Given the description of an element on the screen output the (x, y) to click on. 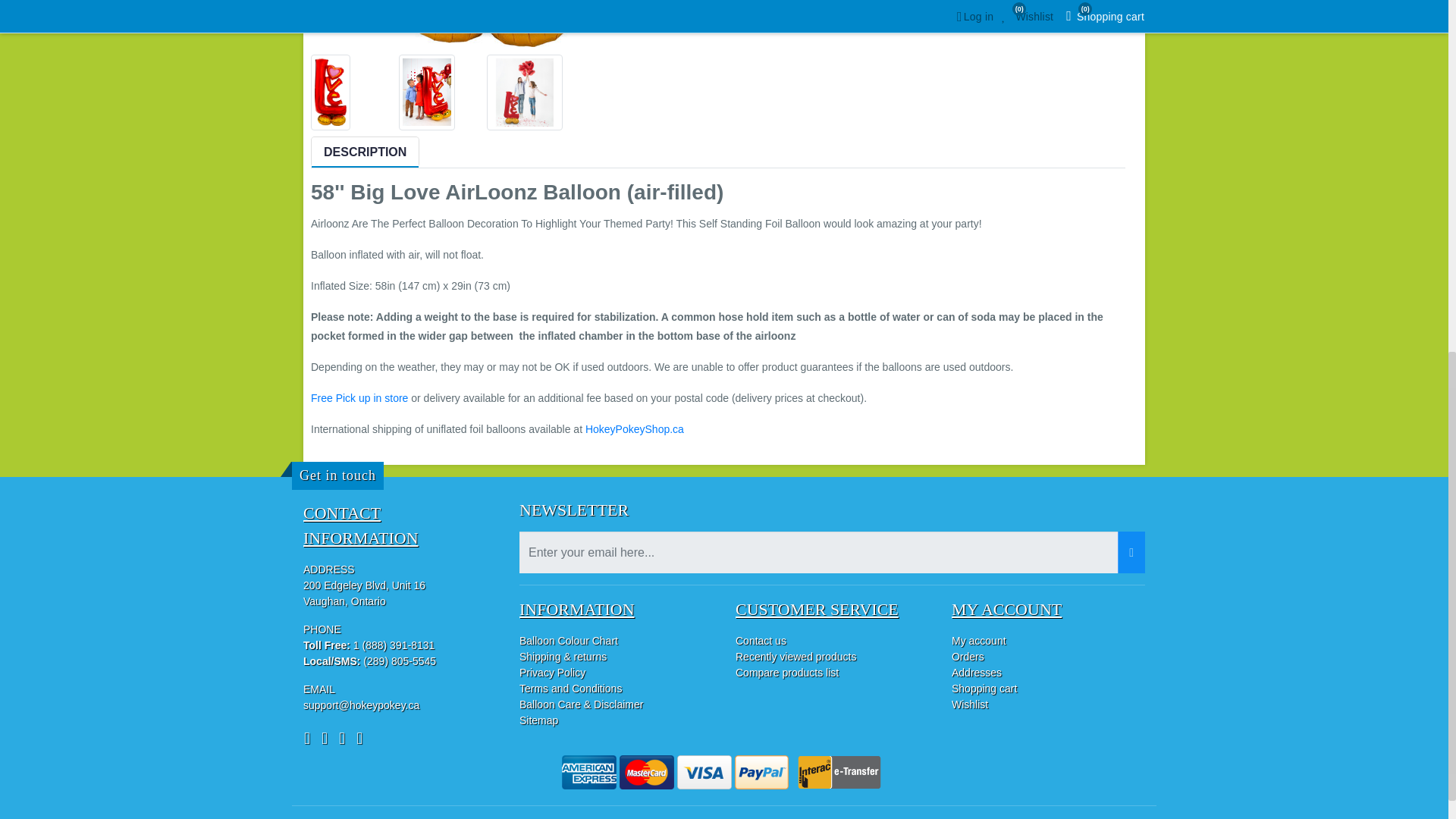
facebook (310, 739)
